Given the description of an element on the screen output the (x, y) to click on. 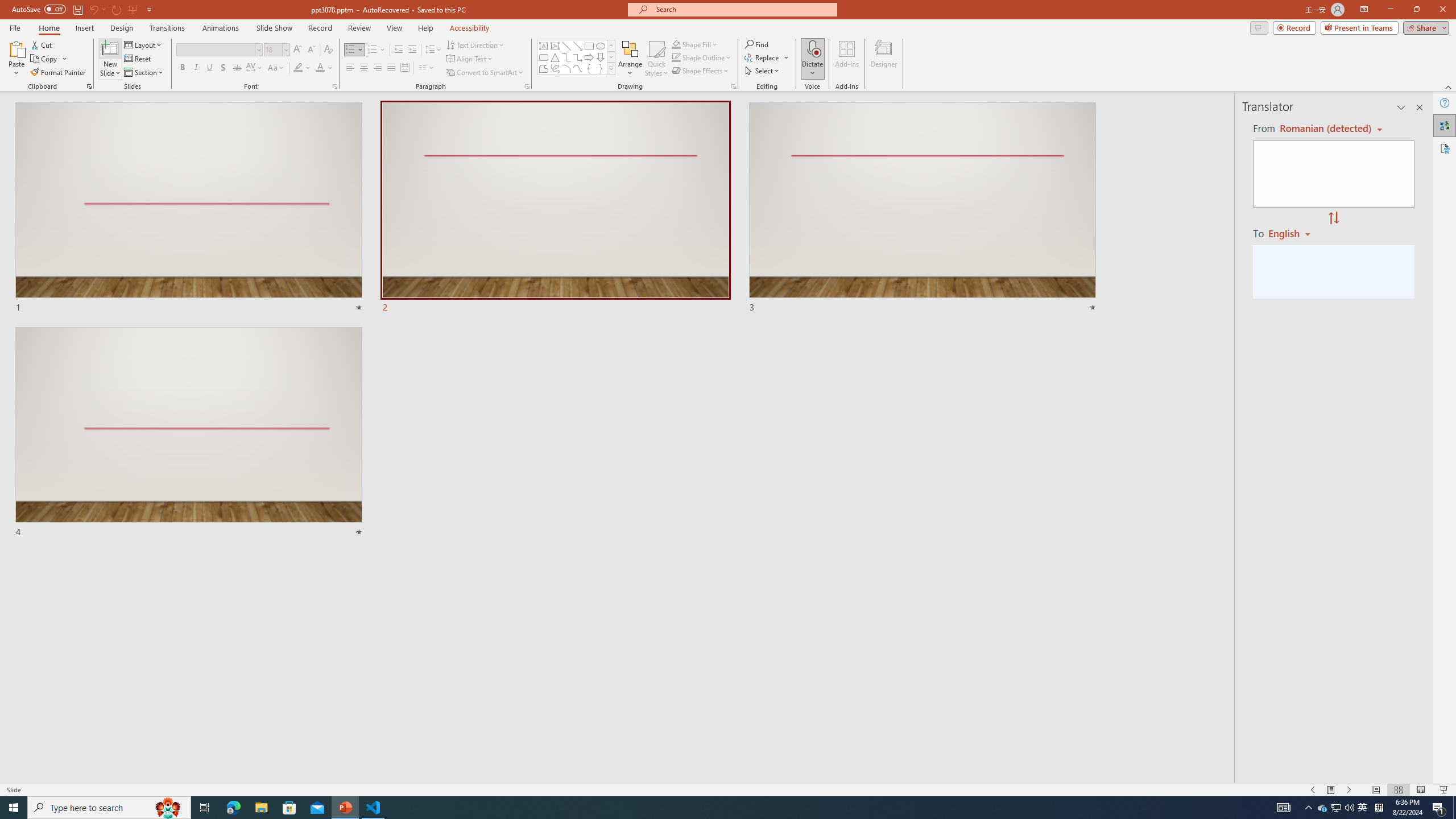
Decrease Indent (398, 49)
Line Arrow (577, 45)
Align Left (349, 67)
Shape Outline (701, 56)
Freeform: Scribble (554, 68)
Isosceles Triangle (554, 57)
